Given the description of an element on the screen output the (x, y) to click on. 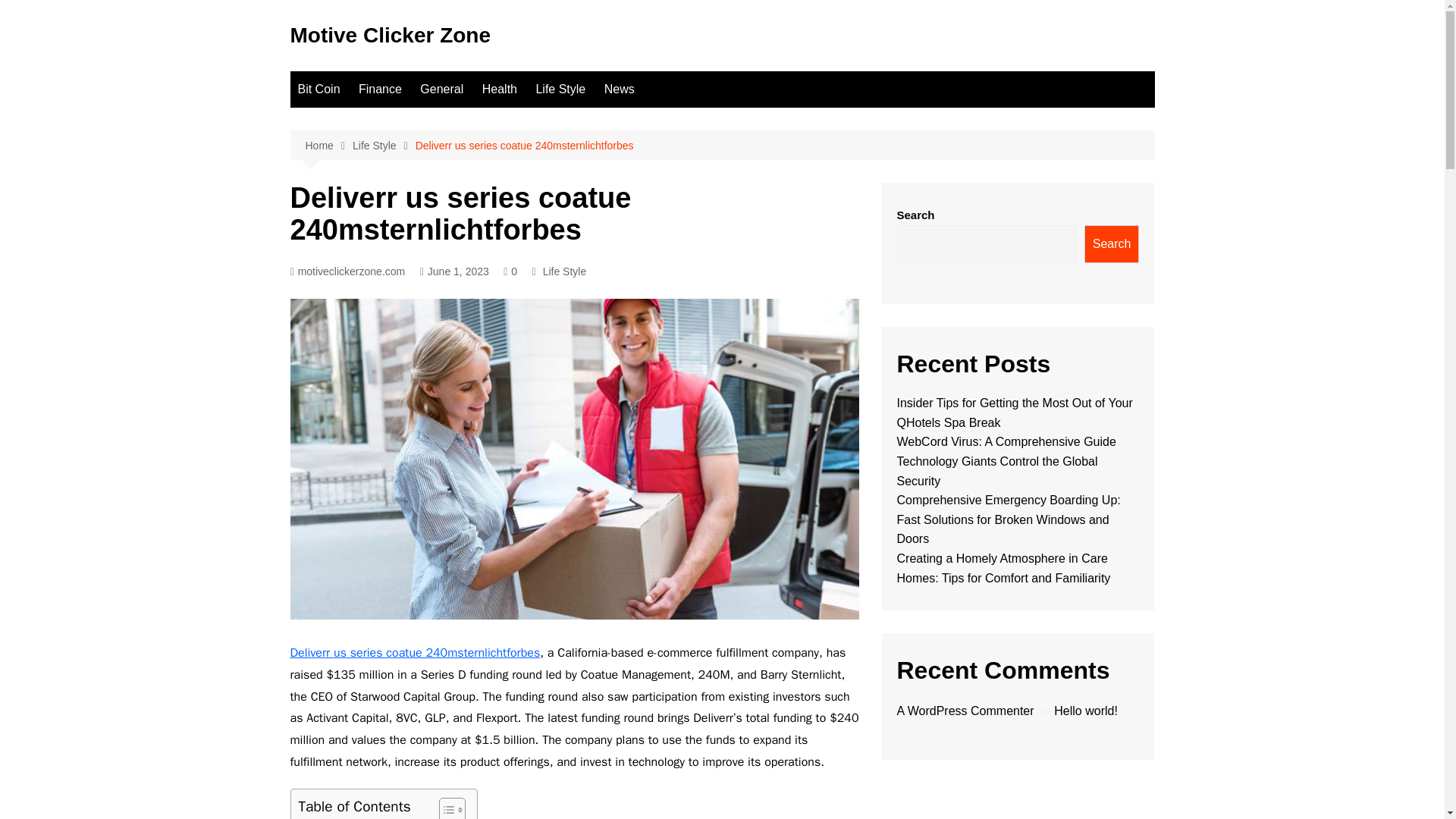
Deliverr us series coatue 240msternlichtforbes (523, 145)
Life Style (564, 271)
Deliverr us series coatue 240msternlichtforbes (414, 652)
Home (328, 145)
Life Style (559, 89)
motiveclickerzone.com (346, 271)
Health (499, 89)
Life Style (383, 145)
General (441, 89)
News (619, 89)
June 1, 2023 (454, 271)
Bit Coin (318, 89)
Motive Clicker Zone (389, 34)
Finance (379, 89)
